Given the description of an element on the screen output the (x, y) to click on. 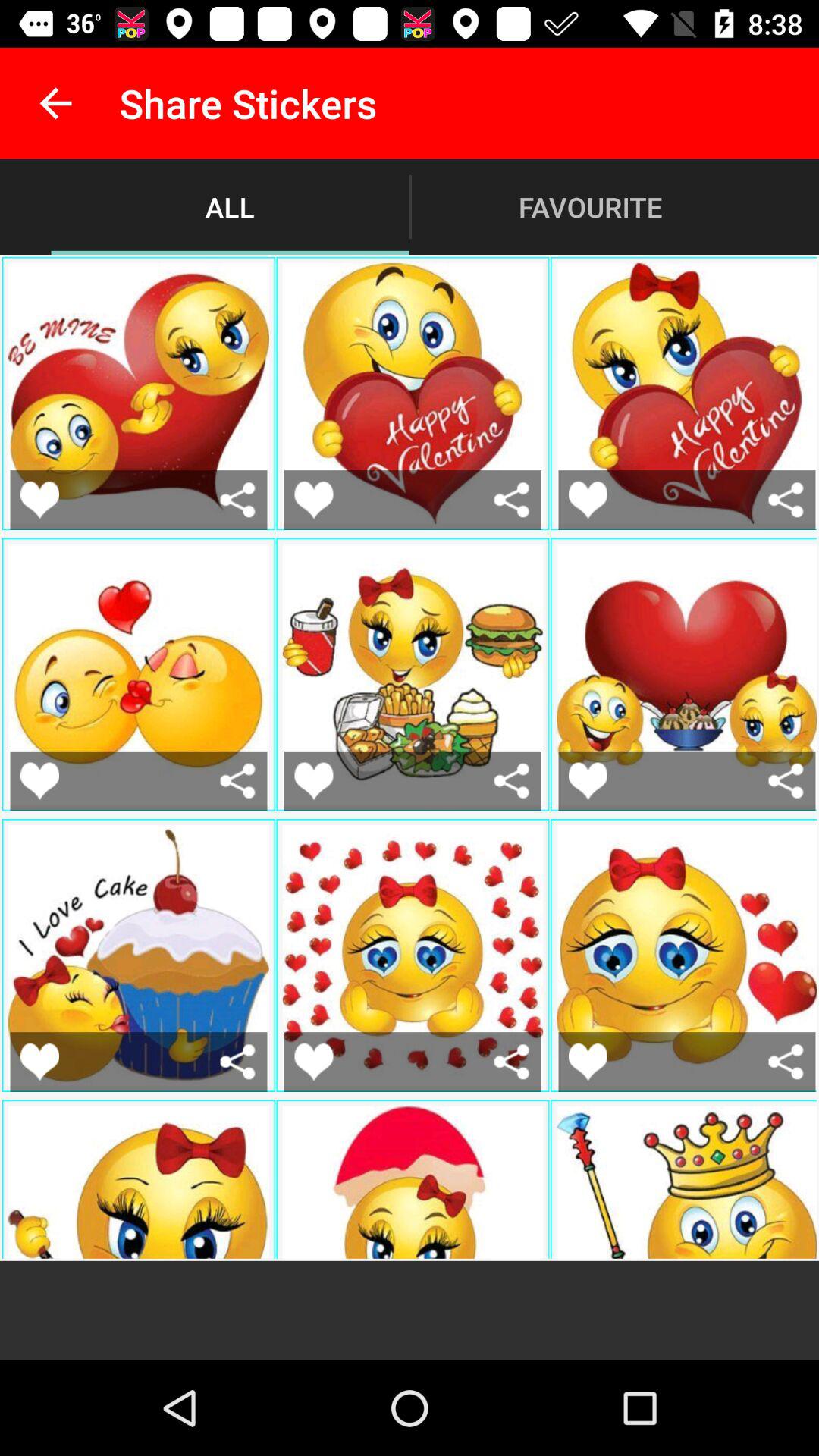
share the sticker (511, 780)
